Given the description of an element on the screen output the (x, y) to click on. 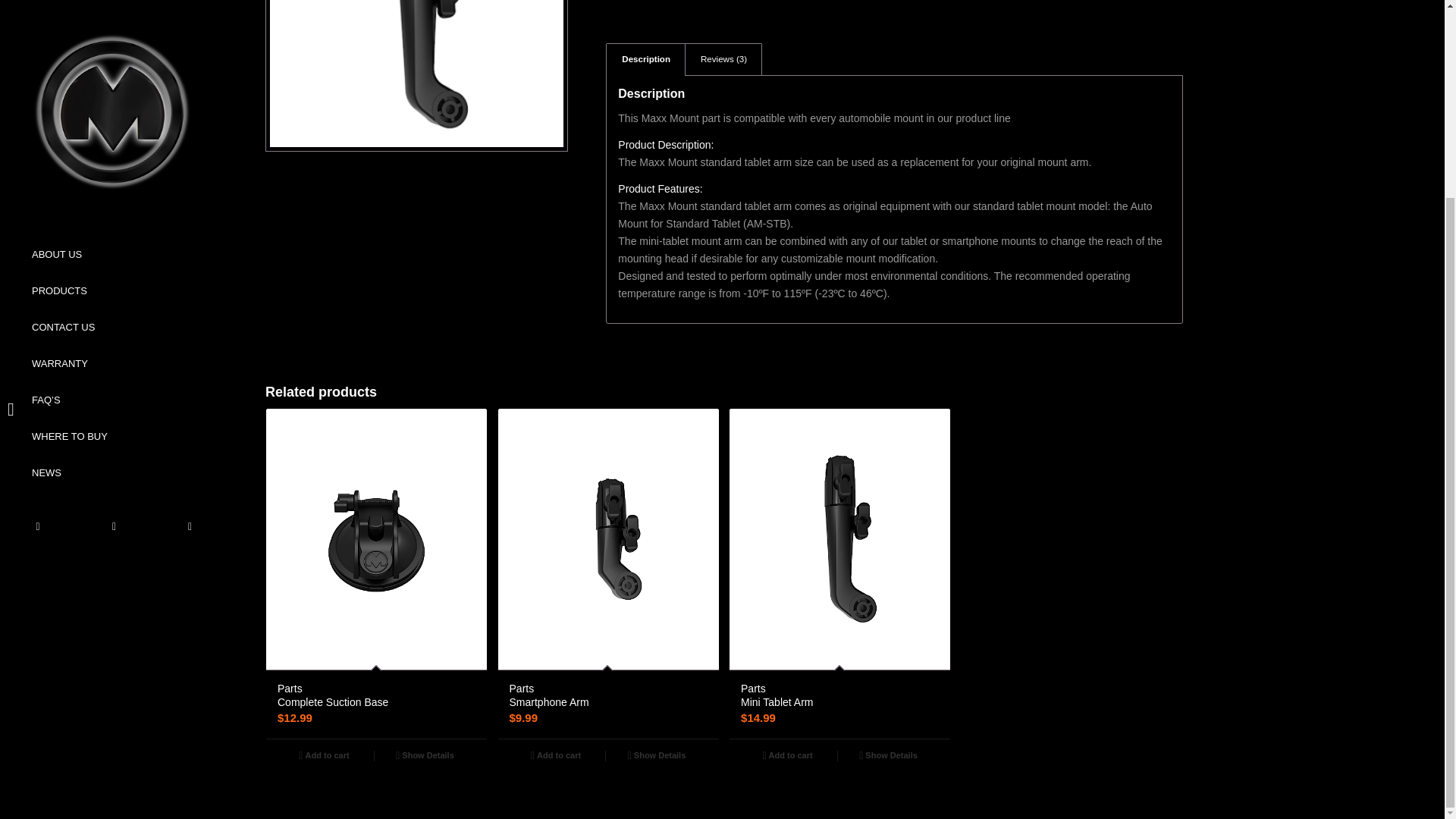
Description (645, 59)
STB-part (416, 73)
WARRANTY (113, 114)
Show Details (425, 754)
Show Details (888, 754)
Facebook (189, 276)
Youtube (113, 276)
ABOUT US (113, 11)
NEWS (113, 222)
Description (645, 59)
